Given the description of an element on the screen output the (x, y) to click on. 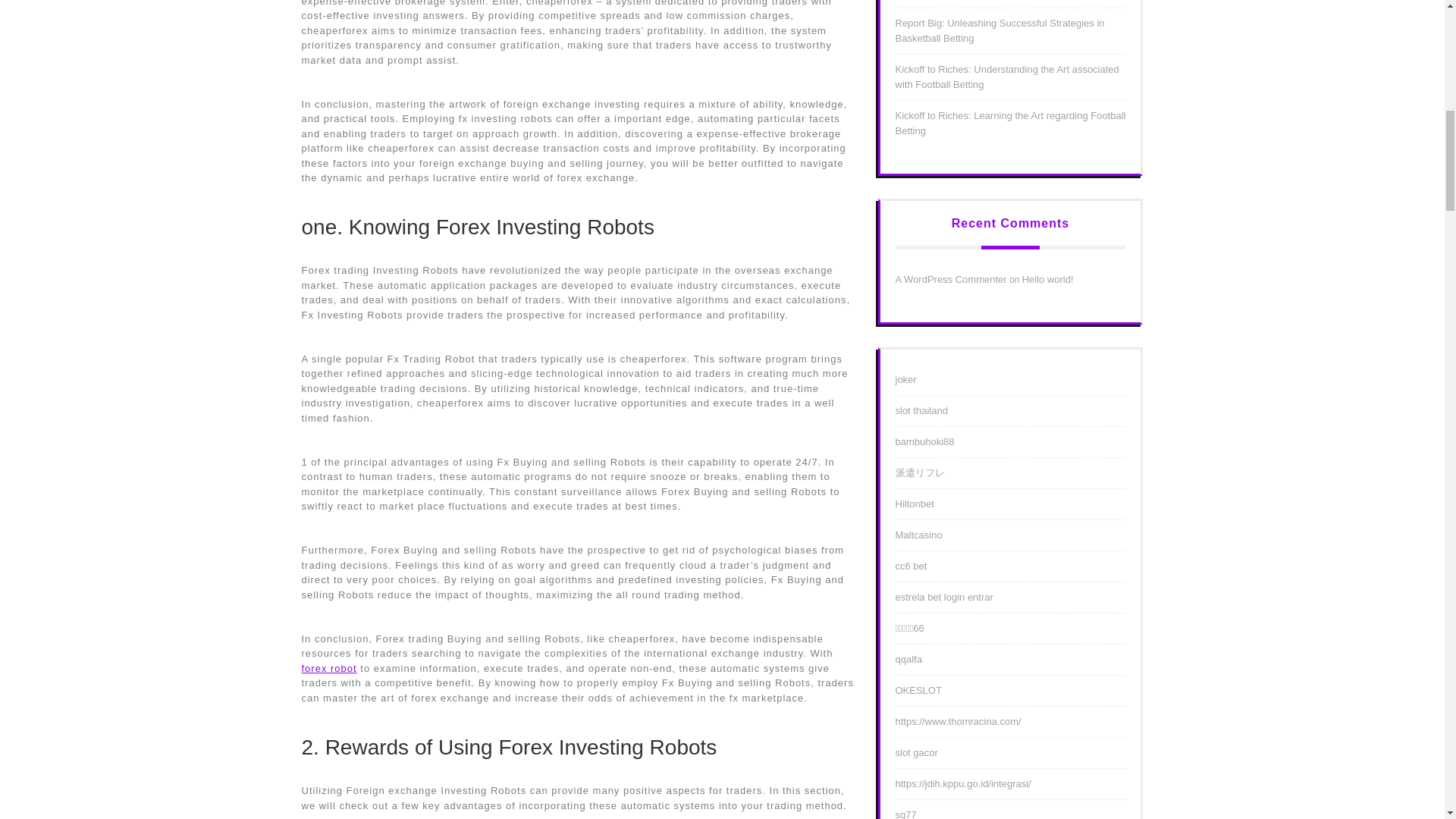
forex robot (328, 668)
OKESLOT (917, 690)
Hiltonbet (914, 503)
Maltcasino (918, 534)
Hello world! (1048, 279)
qqalfa (908, 659)
bambuhoki88 (924, 441)
slot gacor (916, 752)
joker (905, 378)
cc6 bet (910, 565)
A WordPress Commenter (950, 279)
estrela bet login entrar (943, 596)
